Given the description of an element on the screen output the (x, y) to click on. 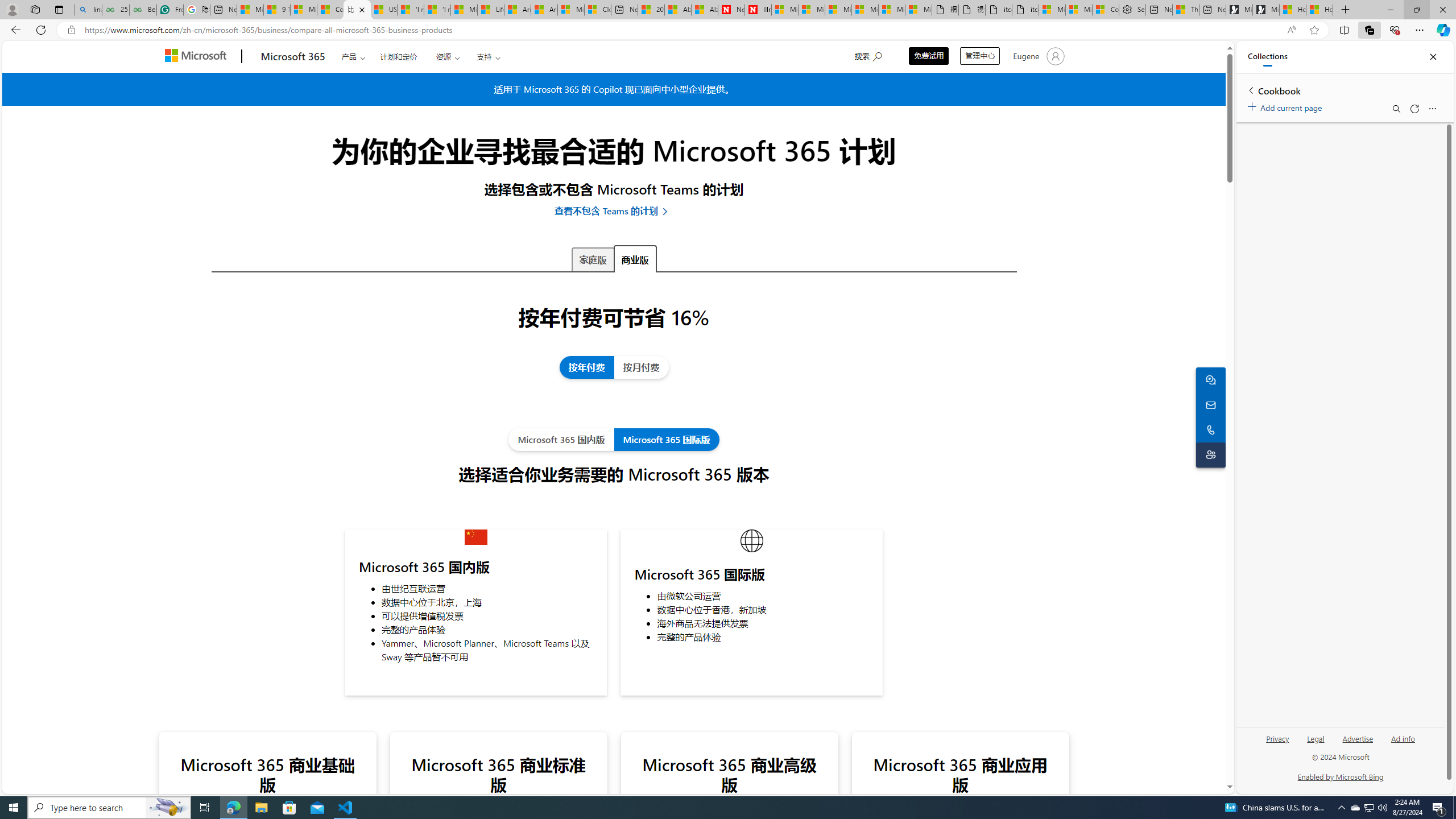
More options menu (1432, 108)
Free AI Writing Assistance for Students | Grammarly (169, 9)
Newsweek - News, Analysis, Politics, Business, Technology (731, 9)
Lifestyle - MSN (491, 9)
How to Use a TV as a Computer Monitor (1319, 9)
20 Ways to Boost Your Protein Intake at Every Meal (651, 9)
Illness news & latest pictures from Newsweek.com (757, 9)
